Given the description of an element on the screen output the (x, y) to click on. 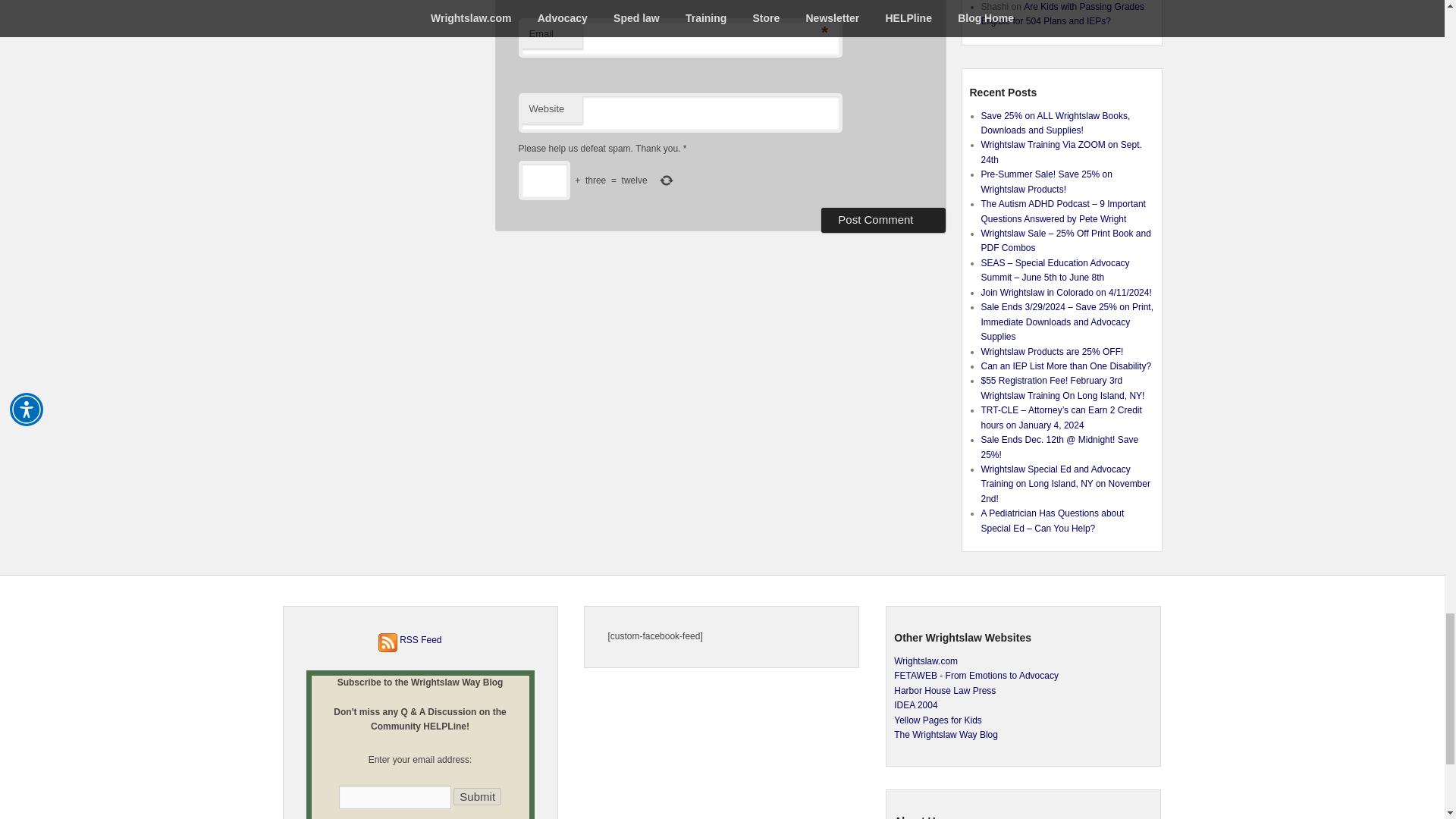
Submit (476, 796)
Post Comment (882, 220)
